Given the description of an element on the screen output the (x, y) to click on. 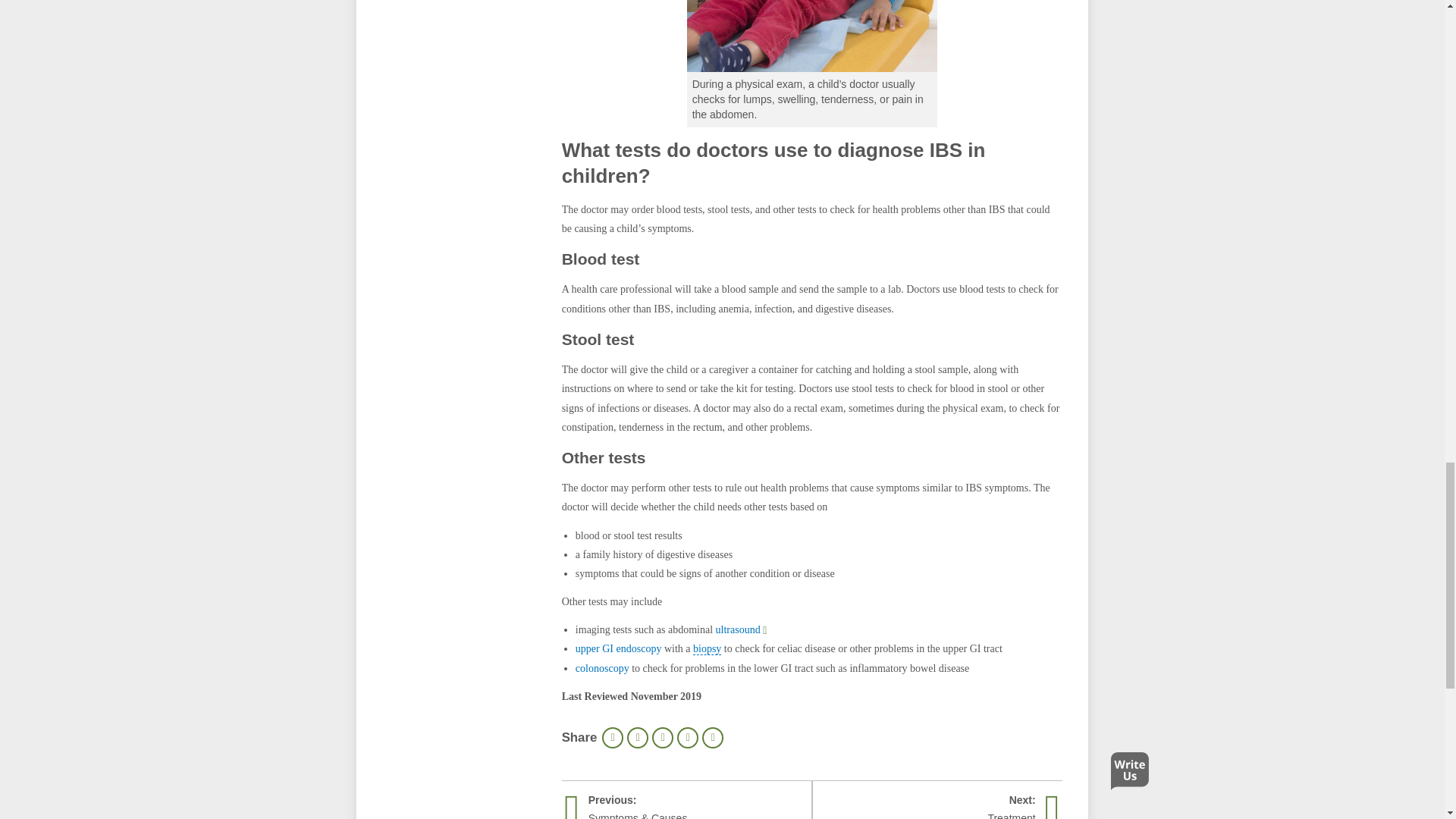
Post this page on X (662, 737)
More sharing options (712, 737)
Print this page (612, 737)
Email this page (687, 737)
Share this page on Facebook (637, 737)
